Given the description of an element on the screen output the (x, y) to click on. 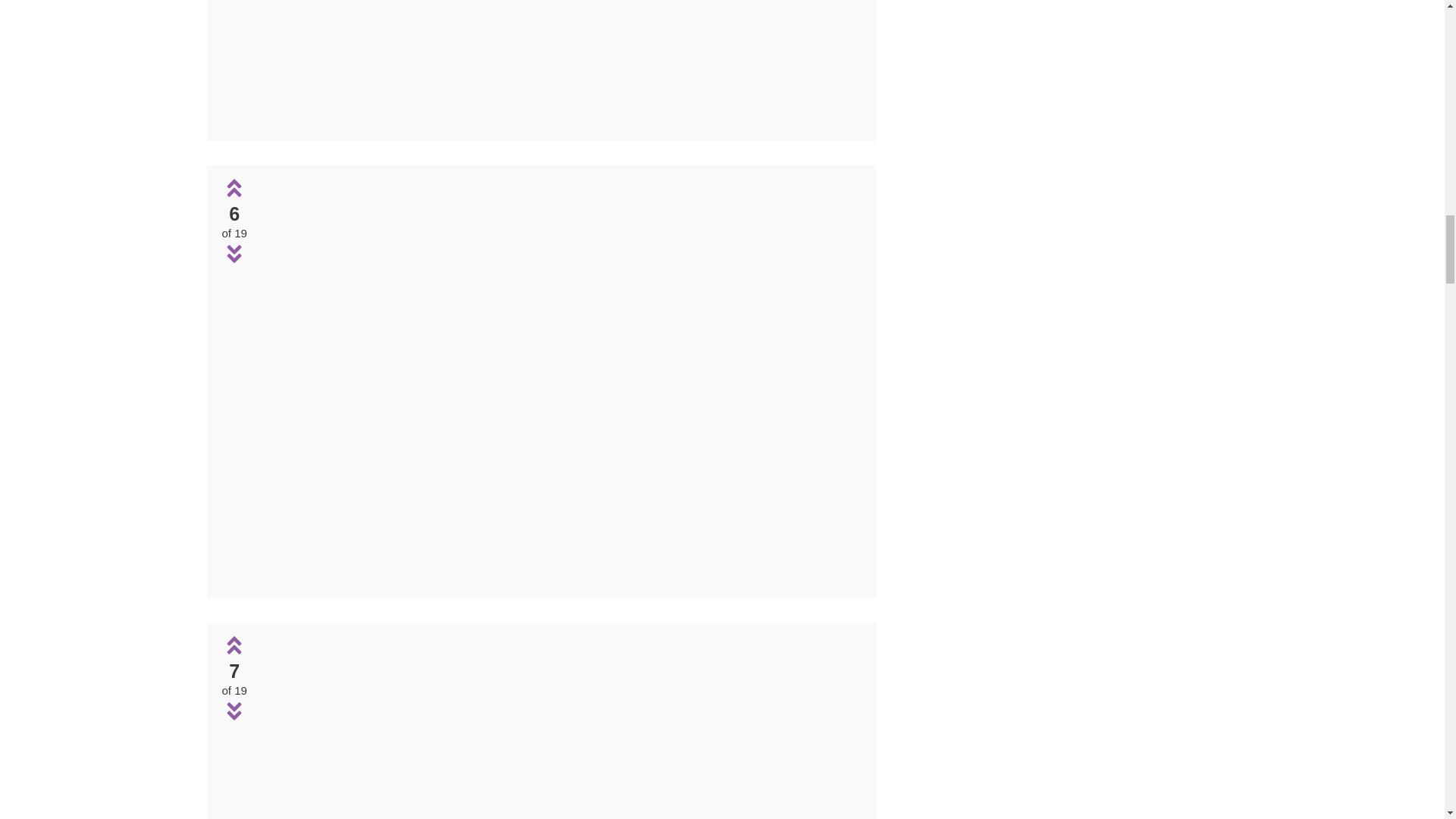
Traditional Black And White Bedroom (559, 119)
Traditional Black And White Bedroom (559, 62)
Traditional Black And White Bedroom (558, 576)
